Given the description of an element on the screen output the (x, y) to click on. 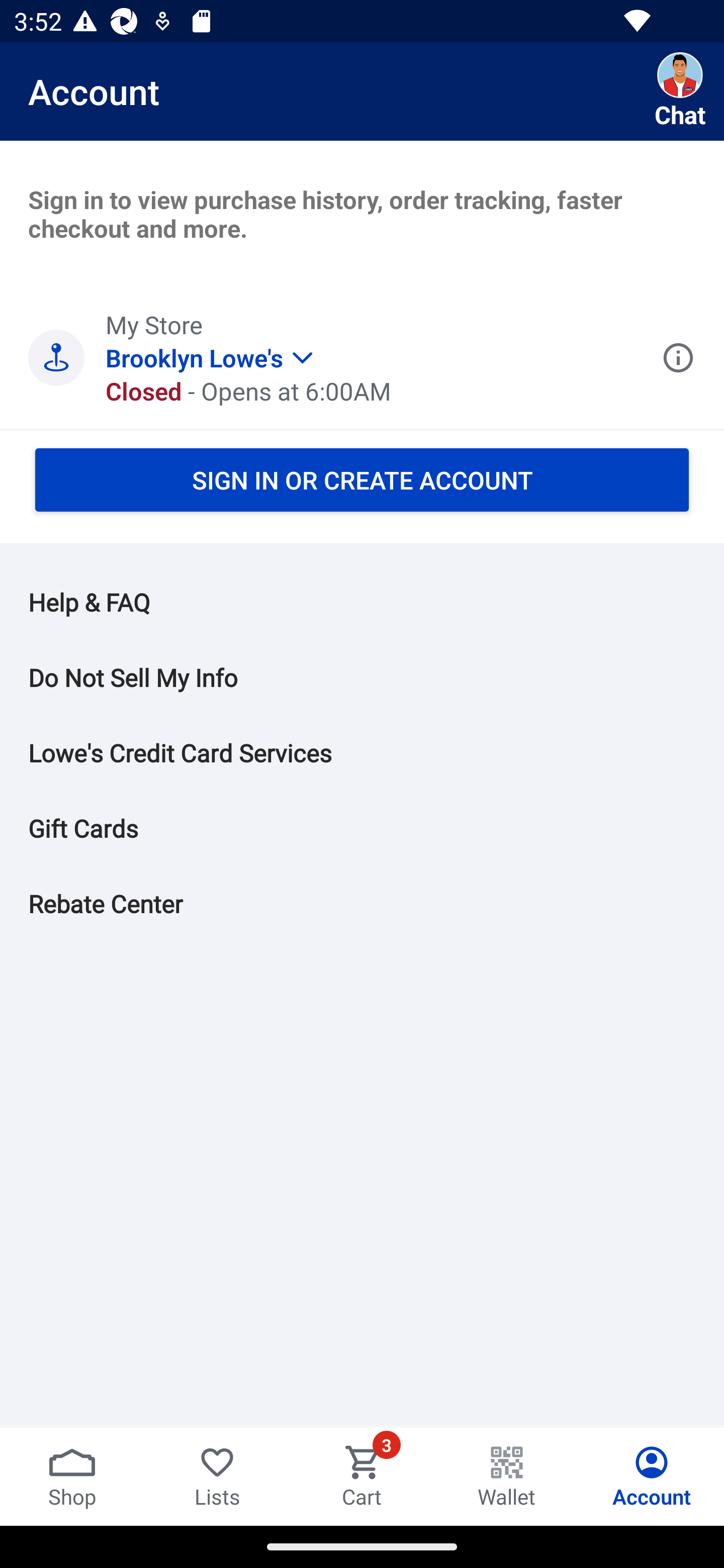
Chat (679, 91)
Brooklyn Lowe's (209, 344)
SIGN IN OR CREATE ACCOUNT (361, 479)
Help & FAQ (376, 601)
Do Not Sell My Info (376, 677)
Lowe's Credit Card Services (376, 752)
Gift Cards (376, 828)
Rebate Center (376, 903)
Shop (72, 1475)
Lists (216, 1475)
Cart Cart 3 (361, 1475)
Wallet (506, 1475)
